Given the description of an element on the screen output the (x, y) to click on. 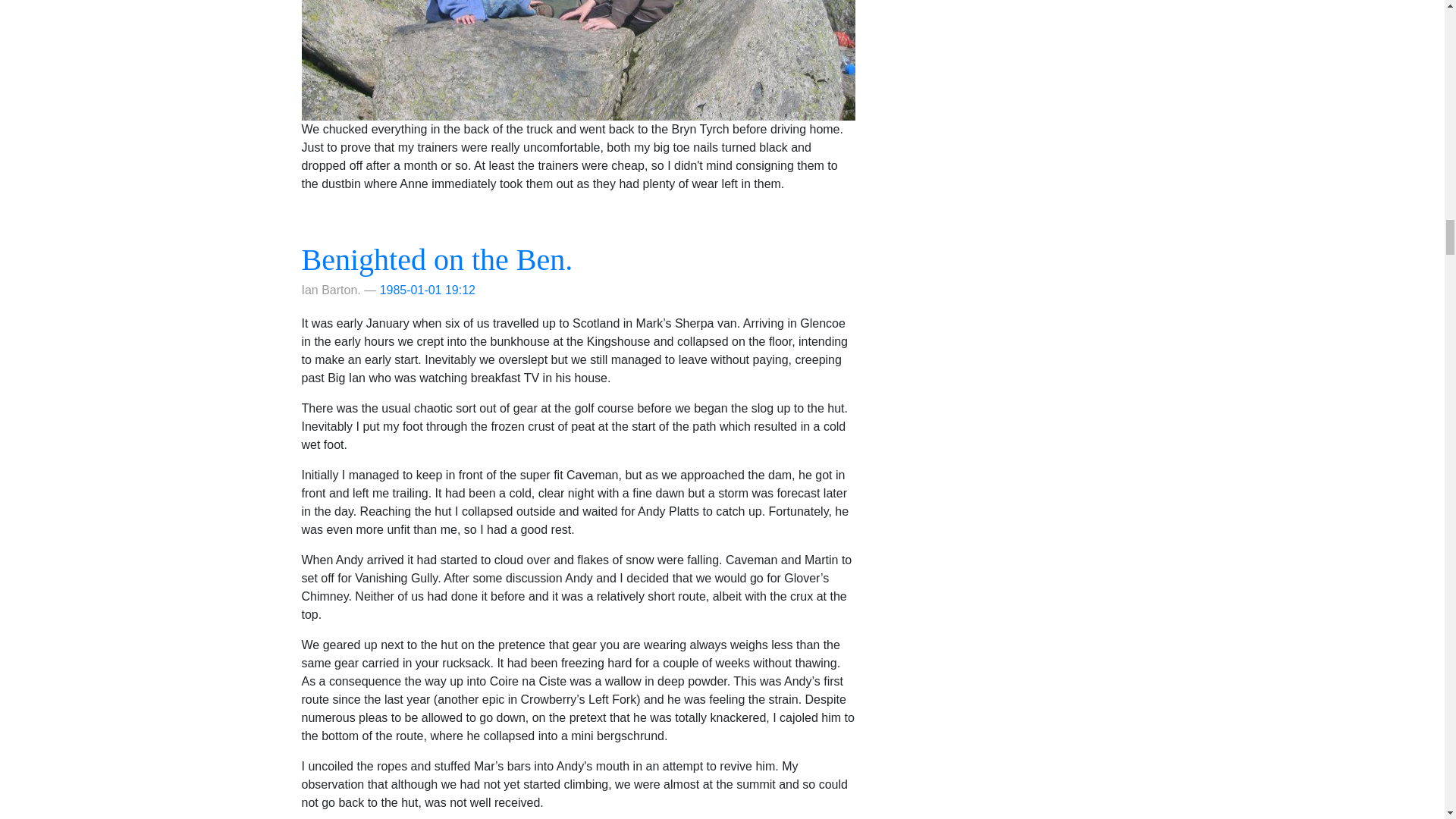
Benighted on the Ben. (437, 259)
1985-01-01 19:12 (428, 289)
1985-01-01 19:12 (428, 289)
